Given the description of an element on the screen output the (x, y) to click on. 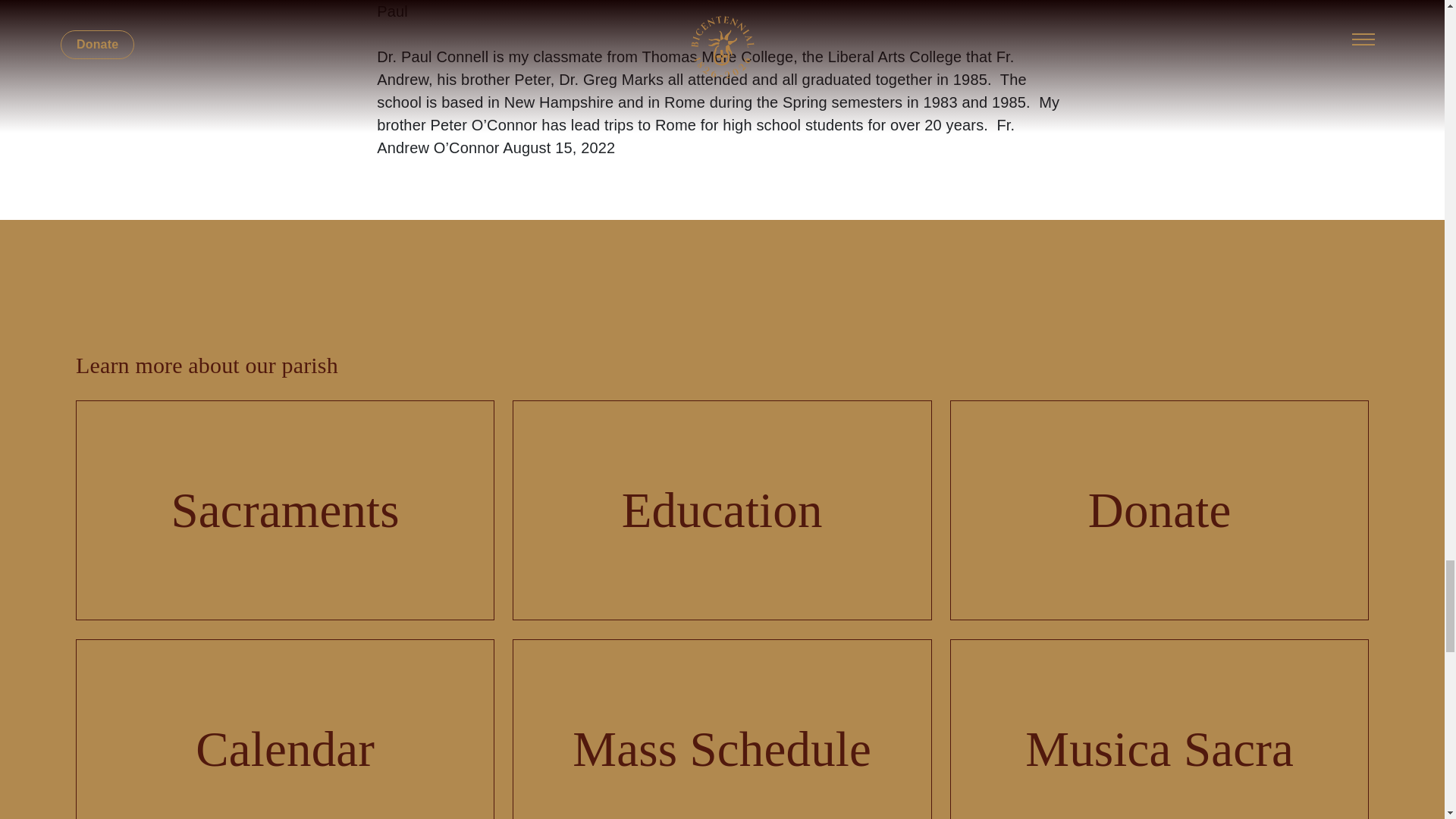
Donate (1159, 509)
Mass Schedule (721, 729)
Sacraments (285, 509)
Education (721, 509)
Musica Sacra (1159, 729)
Calendar (285, 729)
